Given the description of an element on the screen output the (x, y) to click on. 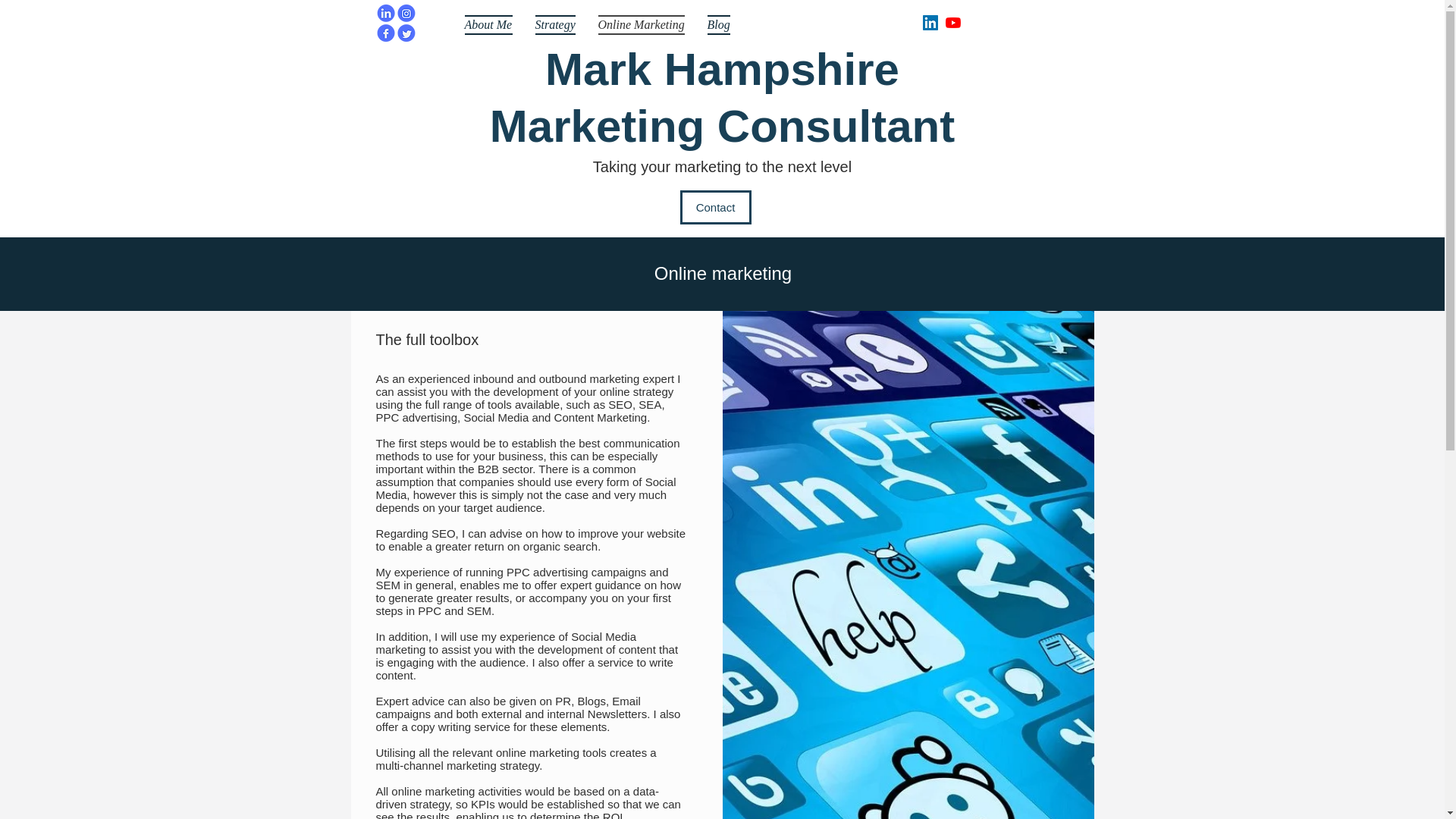
Home (395, 22)
Online Marketing (640, 24)
Blog (718, 24)
About Me (493, 24)
Strategy (554, 24)
Contact (715, 207)
